Given the description of an element on the screen output the (x, y) to click on. 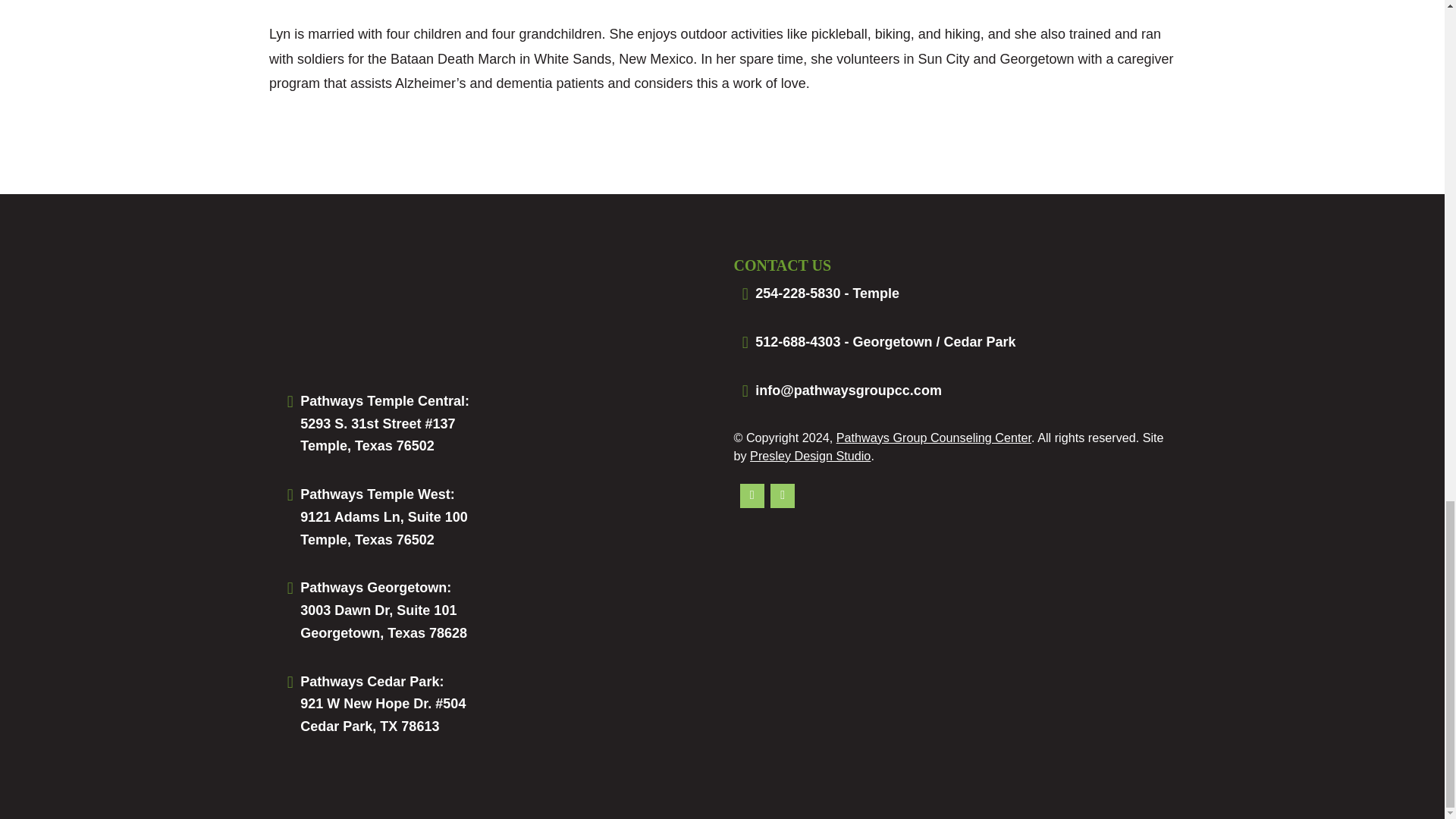
254-228-5830 (383, 528)
512-688-4303 (949, 293)
Pathways Group Counseling Center (949, 342)
Presley Design Studio (383, 621)
